Given the description of an element on the screen output the (x, y) to click on. 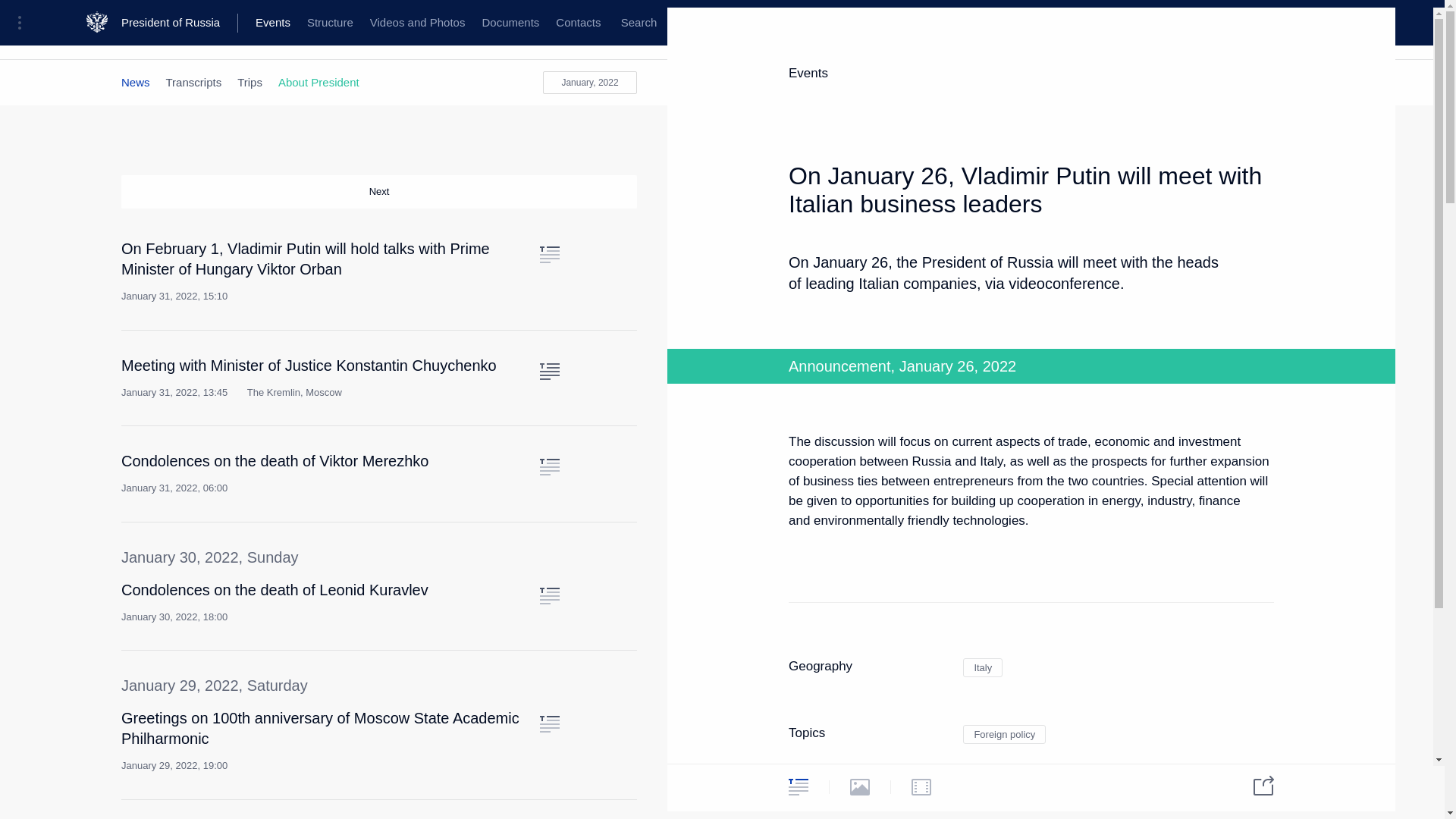
President (144, 35)
Portal Menu (24, 22)
President of Russia (179, 22)
Presidential Executive Office (257, 35)
Events (272, 22)
Text of the article (549, 371)
